Given the description of an element on the screen output the (x, y) to click on. 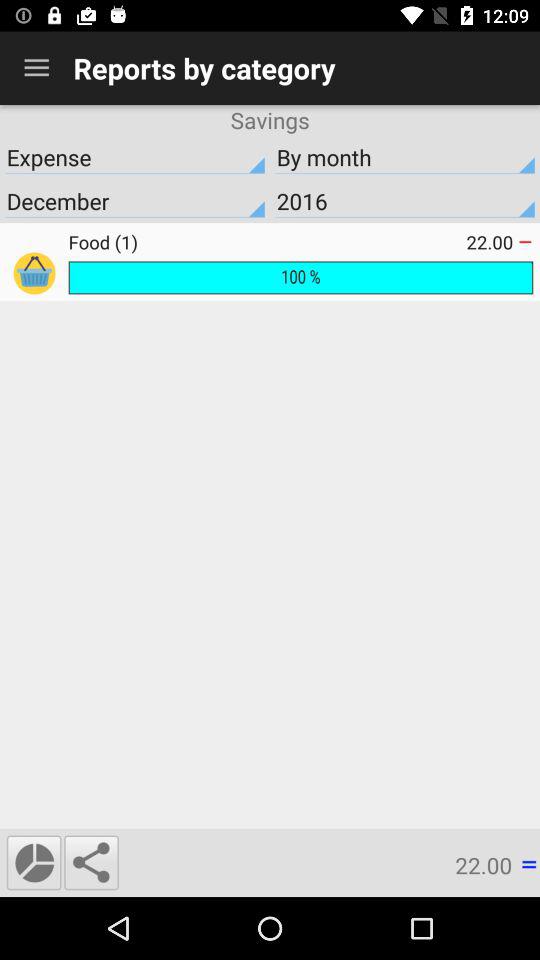
share the report (91, 862)
